Given the description of an element on the screen output the (x, y) to click on. 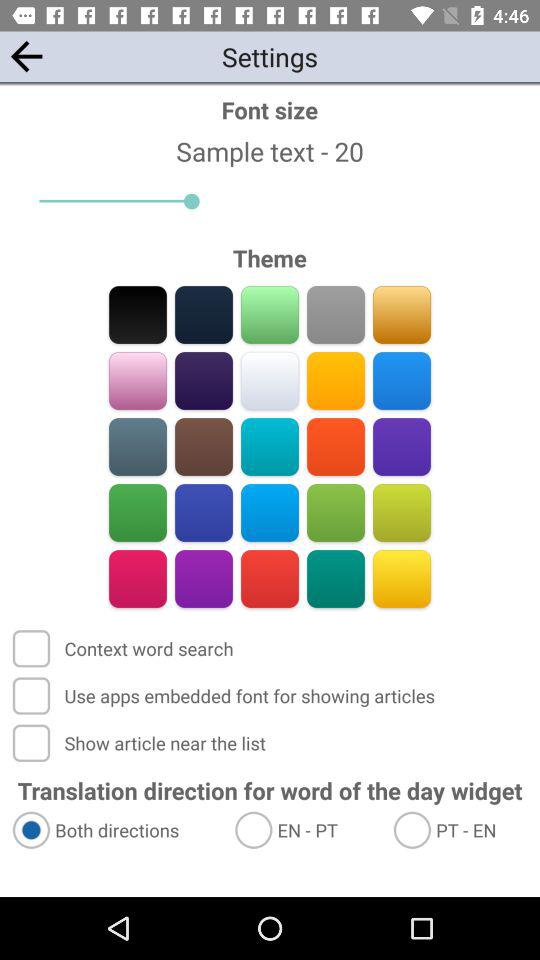
theme color widget (269, 314)
